Given the description of an element on the screen output the (x, y) to click on. 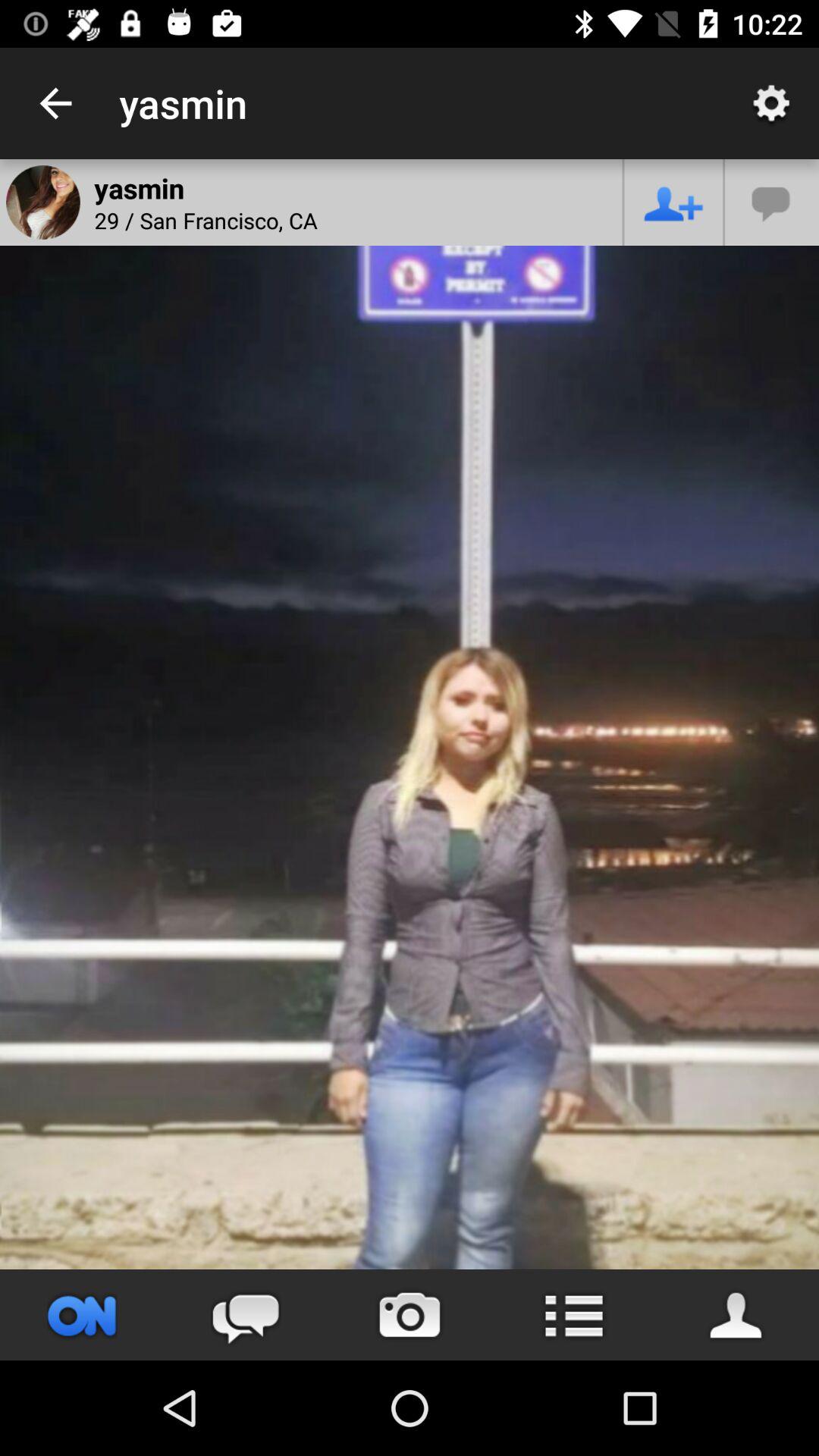
launch item at the center (409, 714)
